Given the description of an element on the screen output the (x, y) to click on. 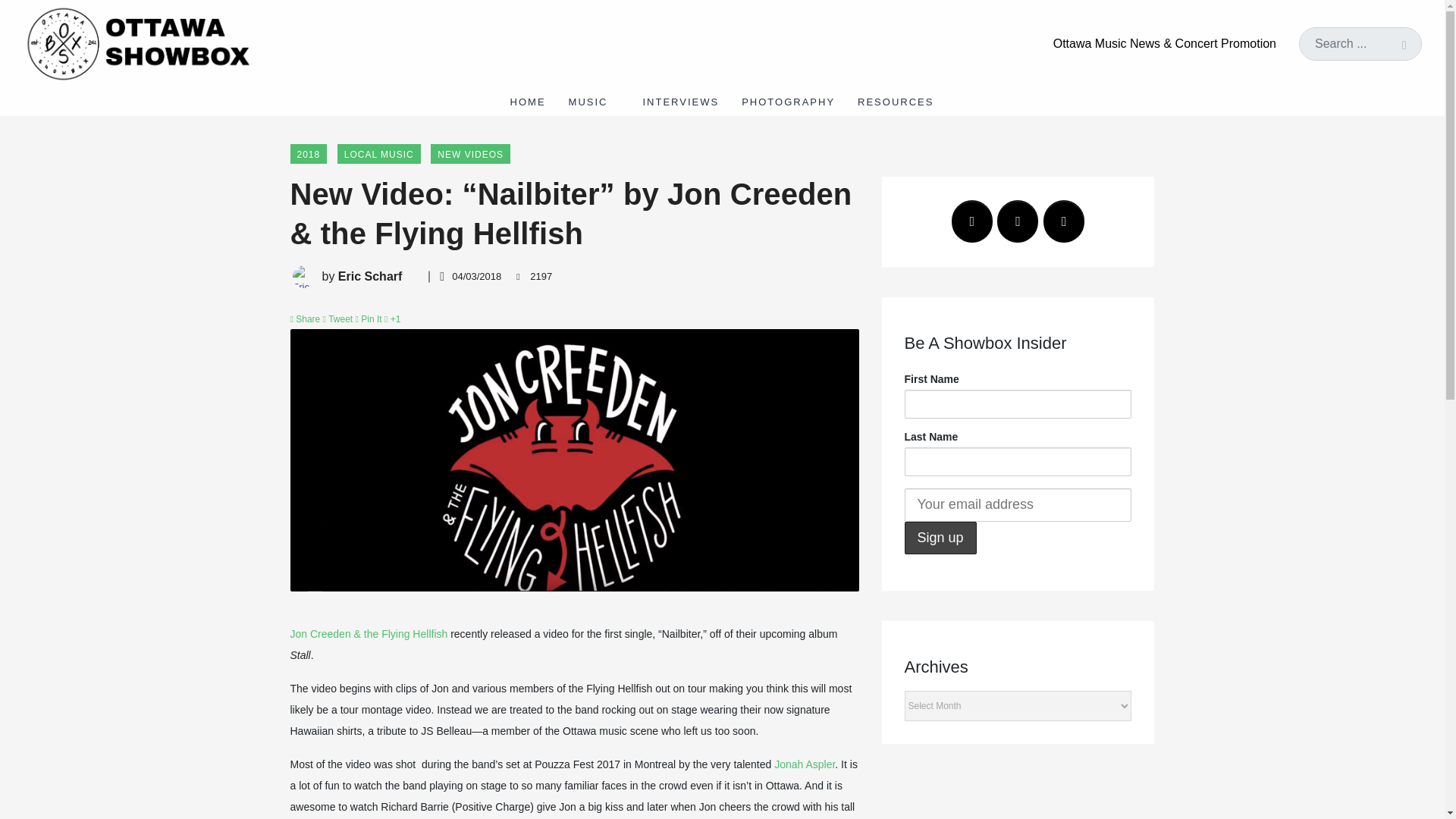
HOME (528, 102)
MUSIC (594, 102)
RESOURCES (900, 102)
Sign up (939, 538)
Ottawa Showbox on Facebook (972, 220)
Ottawa Showbox on Instagram (1063, 220)
NEW VIDEOS (470, 153)
ottawa showbox (136, 42)
INTERVIEWS (680, 102)
PHOTOGRAPHY (787, 102)
